Given the description of an element on the screen output the (x, y) to click on. 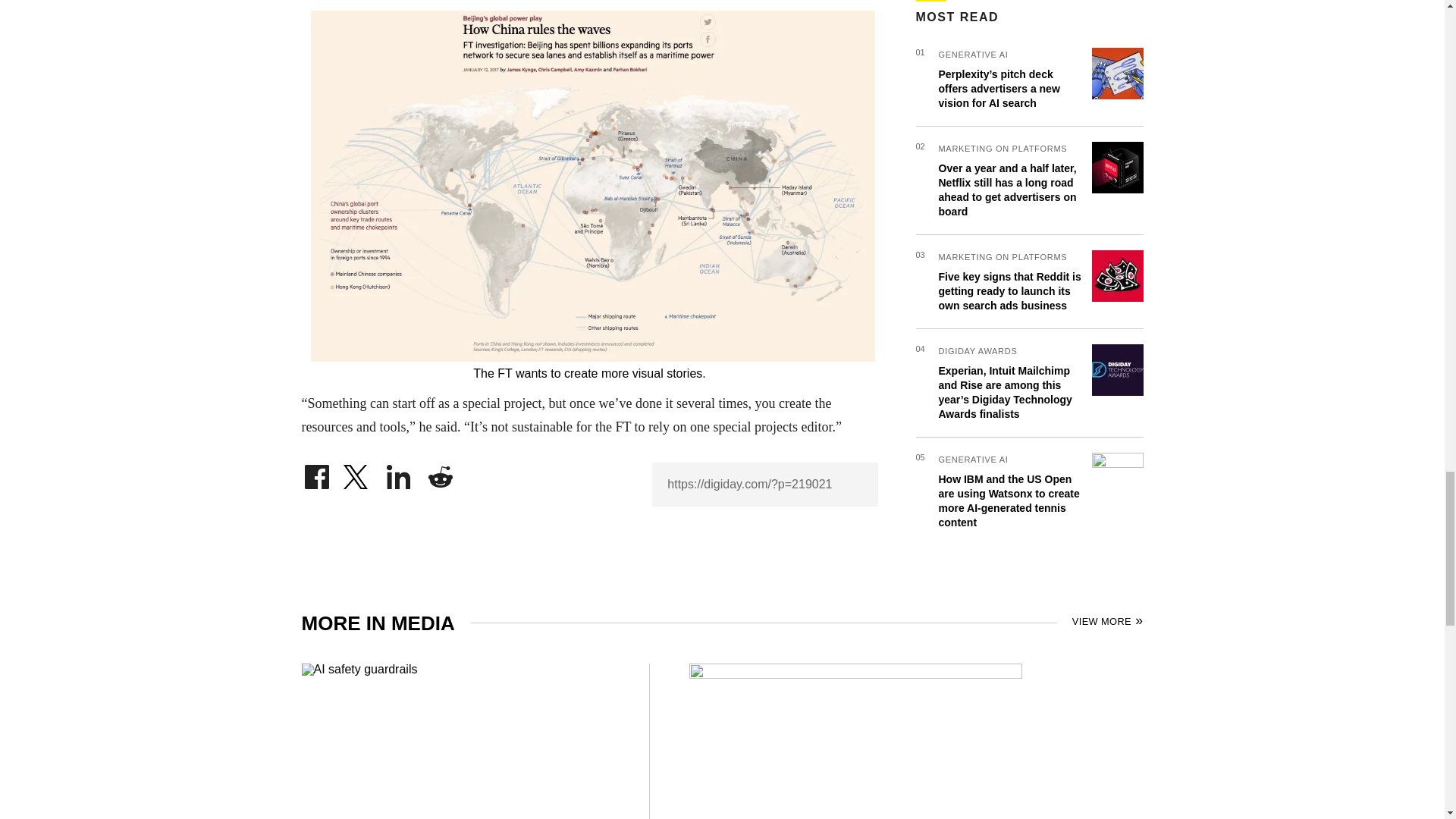
Share on Reddit (440, 473)
Share on Twitter (357, 473)
Share on LinkedIn (398, 473)
Share on Facebook (316, 473)
